Given the description of an element on the screen output the (x, y) to click on. 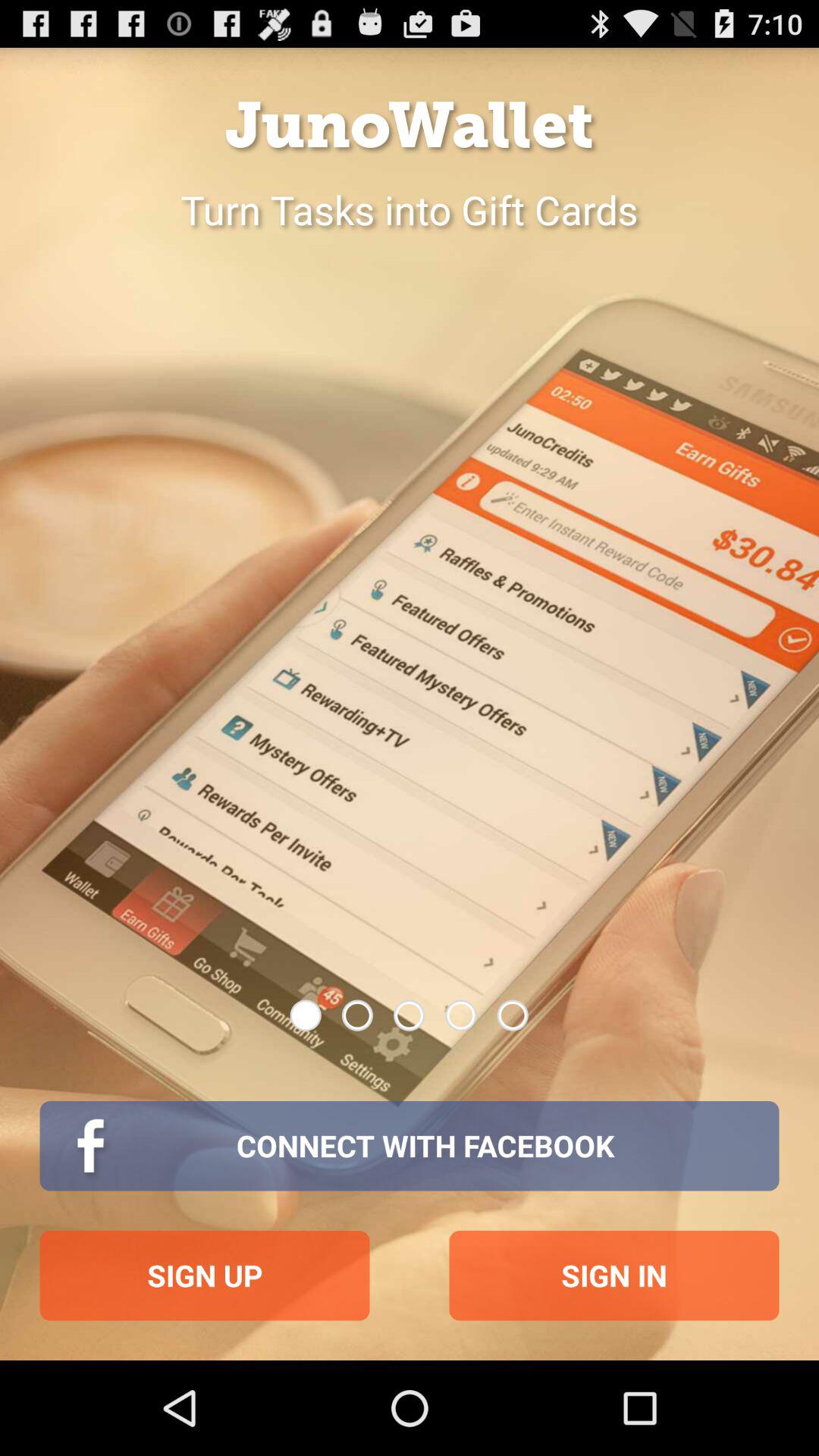
flip to the connect with facebook icon (409, 1145)
